Given the description of an element on the screen output the (x, y) to click on. 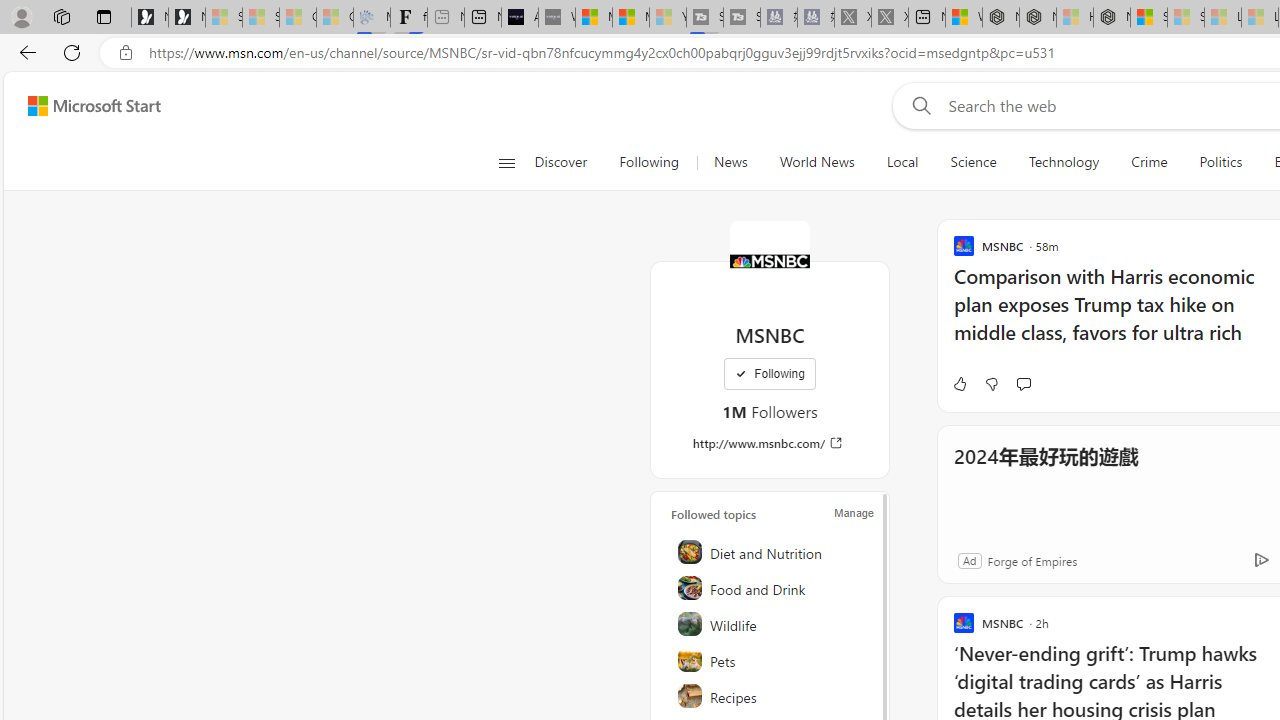
Science (973, 162)
Local (902, 162)
Open navigation menu (506, 162)
Crime (1149, 162)
Crime (1149, 162)
Technology (1064, 162)
